Given the description of an element on the screen output the (x, y) to click on. 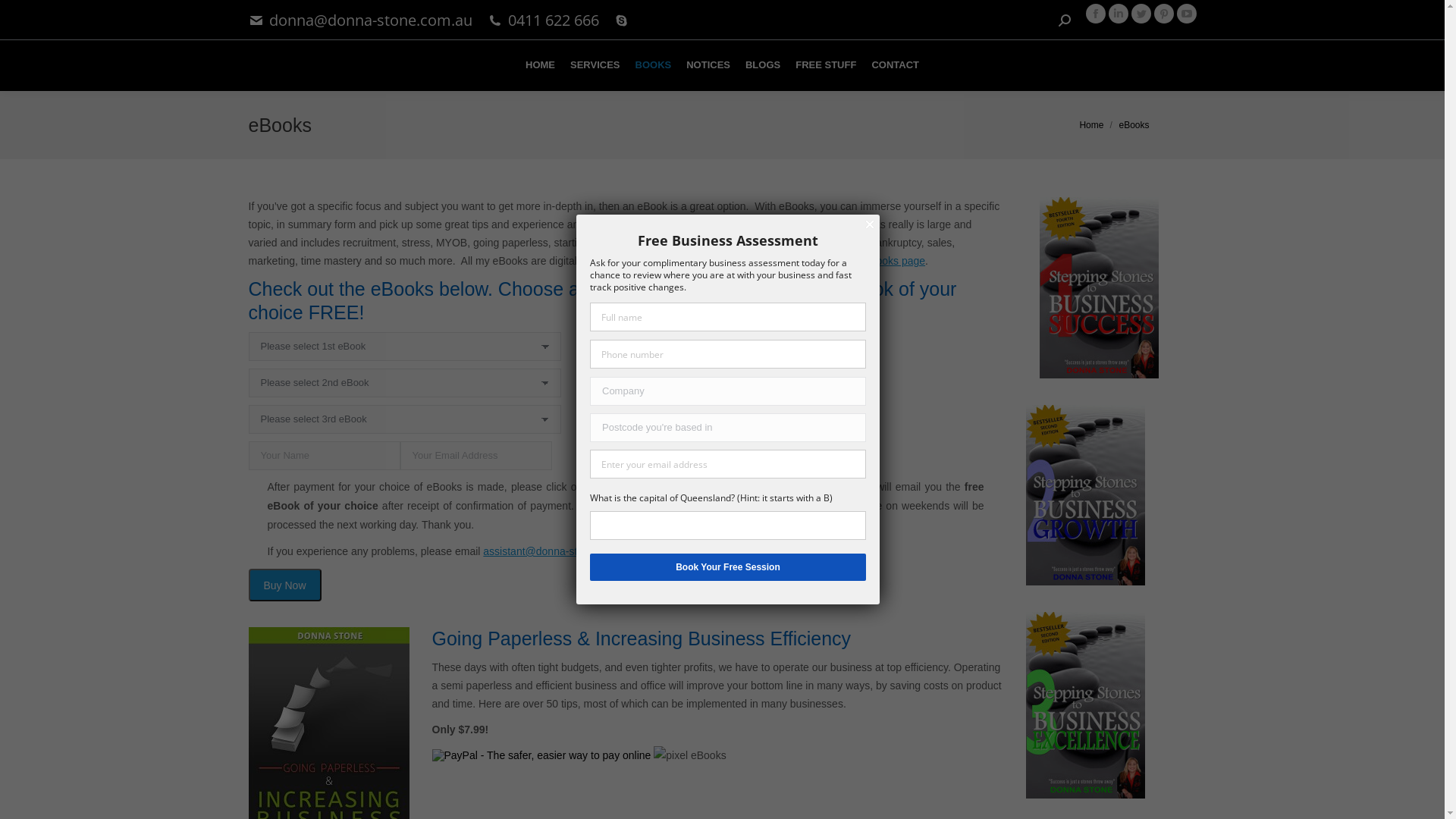
Facebook page opens in new window Element type: text (1095, 13)
Buy Now Element type: text (284, 584)
CONTACT Element type: text (895, 65)
FREE STUFF Element type: text (825, 65)
Stepping Stones to Business Success Element type: hover (1097, 287)
eBooks Element type: hover (689, 755)
Book Your Free Session Element type: text (727, 566)
YouTube page opens in new window Element type: text (1186, 13)
Stepping Stones to Business Excellence Element type: hover (1084, 704)
Twitter page opens in new window Element type: text (1141, 13)
SERVICES Element type: text (595, 65)
donna@donna-stone.com.au Element type: text (370, 20)
books page Element type: text (897, 260)
Stepping Stones to Business Growth Element type: hover (1084, 494)
BOOKS Element type: text (653, 65)
Go! Element type: text (23, 16)
BLOGS Element type: text (762, 65)
0411 622 666 Element type: text (553, 20)
NOTICES Element type: text (708, 65)
Pinterest page opens in new window Element type: text (1163, 13)
Linkedin page opens in new window Element type: text (1118, 13)
HOME Element type: text (540, 65)
Home Element type: text (1091, 124)
assistant@donna-stone.com.au Element type: text (557, 551)
